Given the description of an element on the screen output the (x, y) to click on. 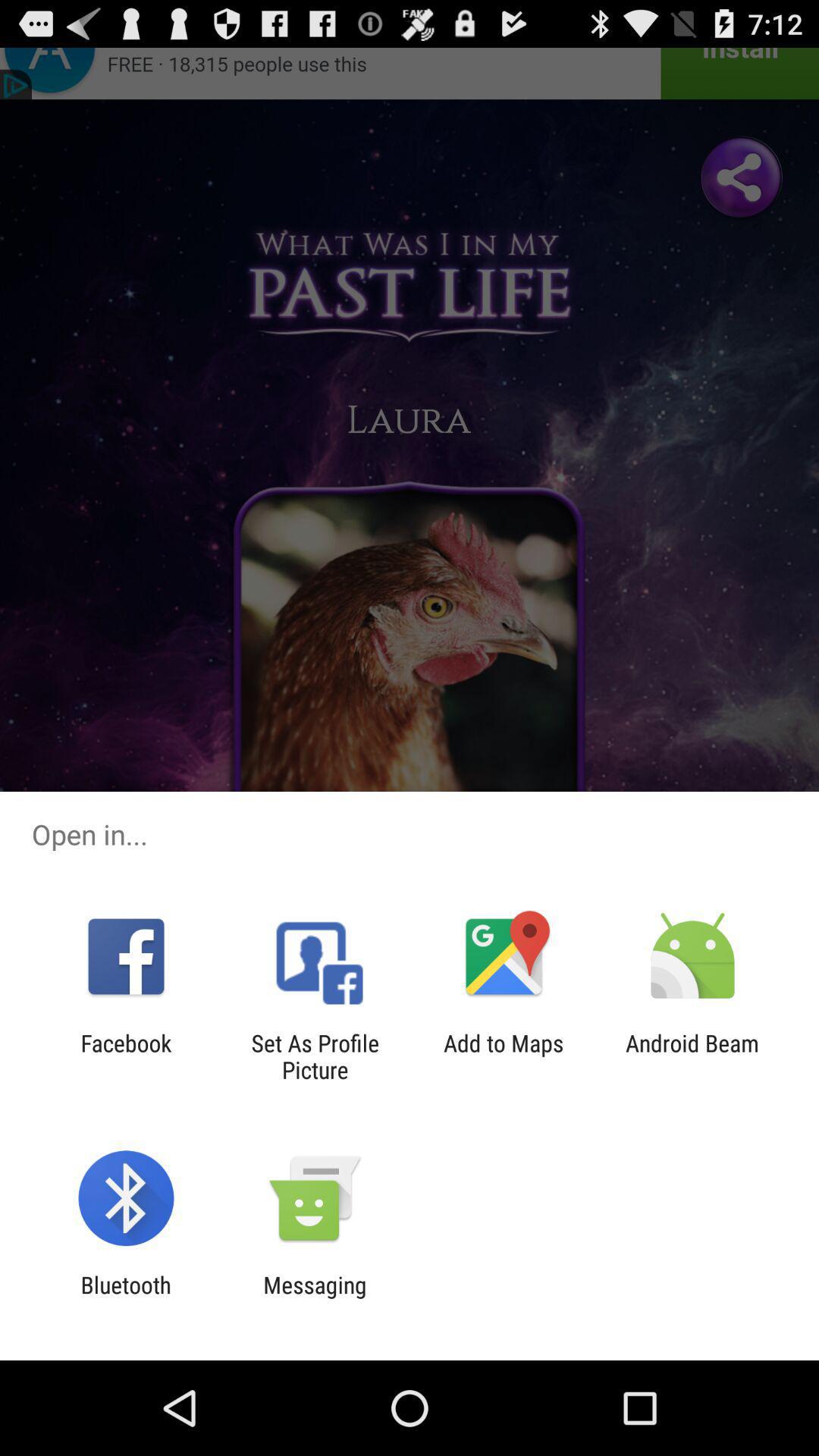
turn on the item next to set as profile (125, 1056)
